Given the description of an element on the screen output the (x, y) to click on. 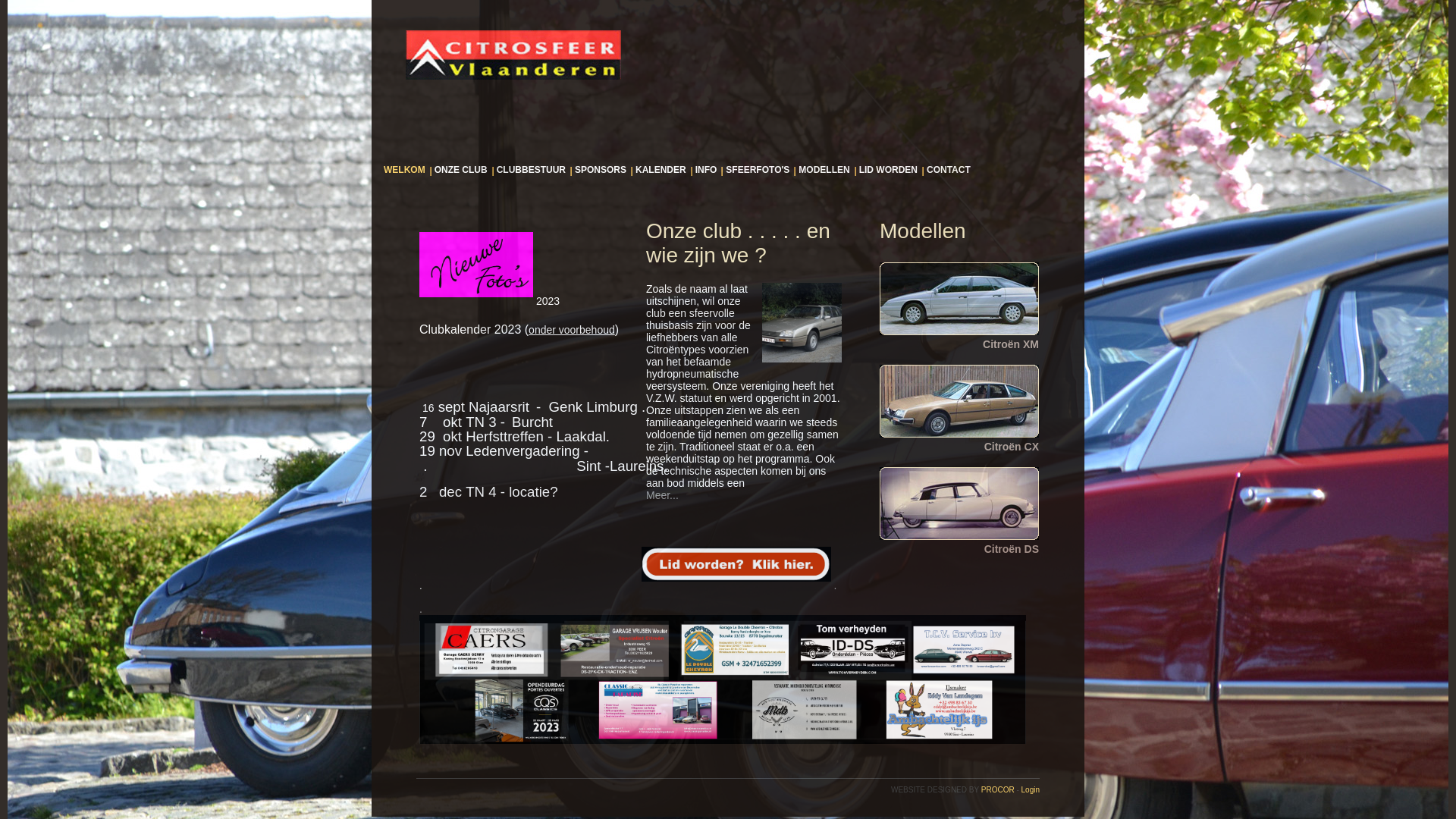
WELKOM Element type: text (406, 169)
. Element type: text (739, 585)
SFEERFOTO'S Element type: text (757, 169)
MODELLEN Element type: text (823, 169)
. Element type: text (722, 677)
ONZE CLUB Element type: text (460, 169)
SPONSORS Element type: text (600, 169)
Meer... Element type: text (662, 495)
CLUBBESTUUR Element type: text (531, 169)
INFO Element type: text (705, 169)
Login Element type: text (1030, 789)
CONTACT Element type: text (948, 169)
PROCOR Element type: text (997, 789)
KALENDER Element type: text (660, 169)
LID WORDEN Element type: text (888, 169)
